Given the description of an element on the screen output the (x, y) to click on. 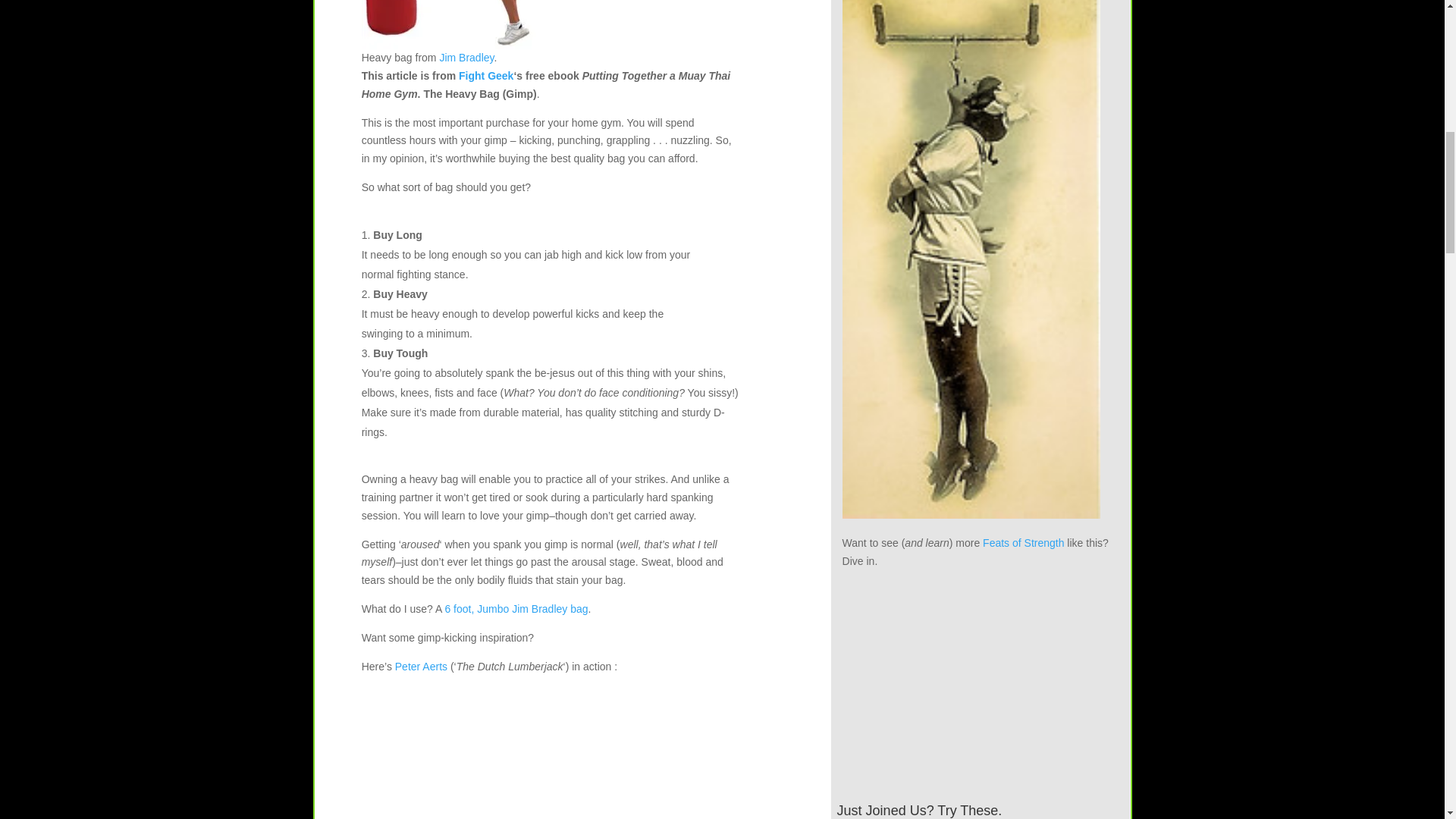
Jim Bradley bag (452, 24)
Jim Bradley (466, 57)
Peter Aerts (420, 666)
Fight Geek (485, 75)
6 foot, Jumbo Jim Bradley bag (516, 608)
